Given the description of an element on the screen output the (x, y) to click on. 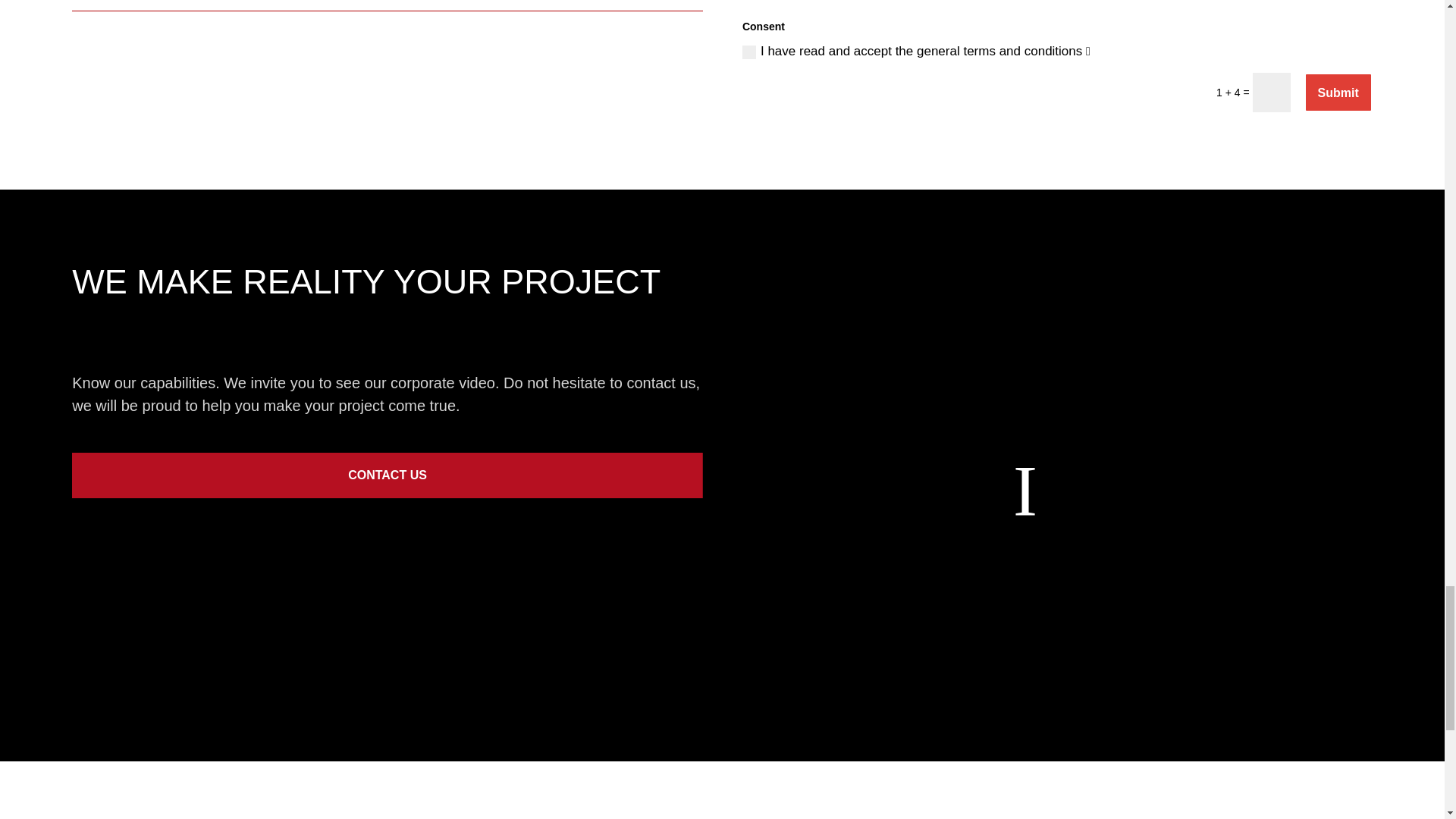
Submit (1338, 92)
CONTACT US (387, 474)
